Given the description of an element on the screen output the (x, y) to click on. 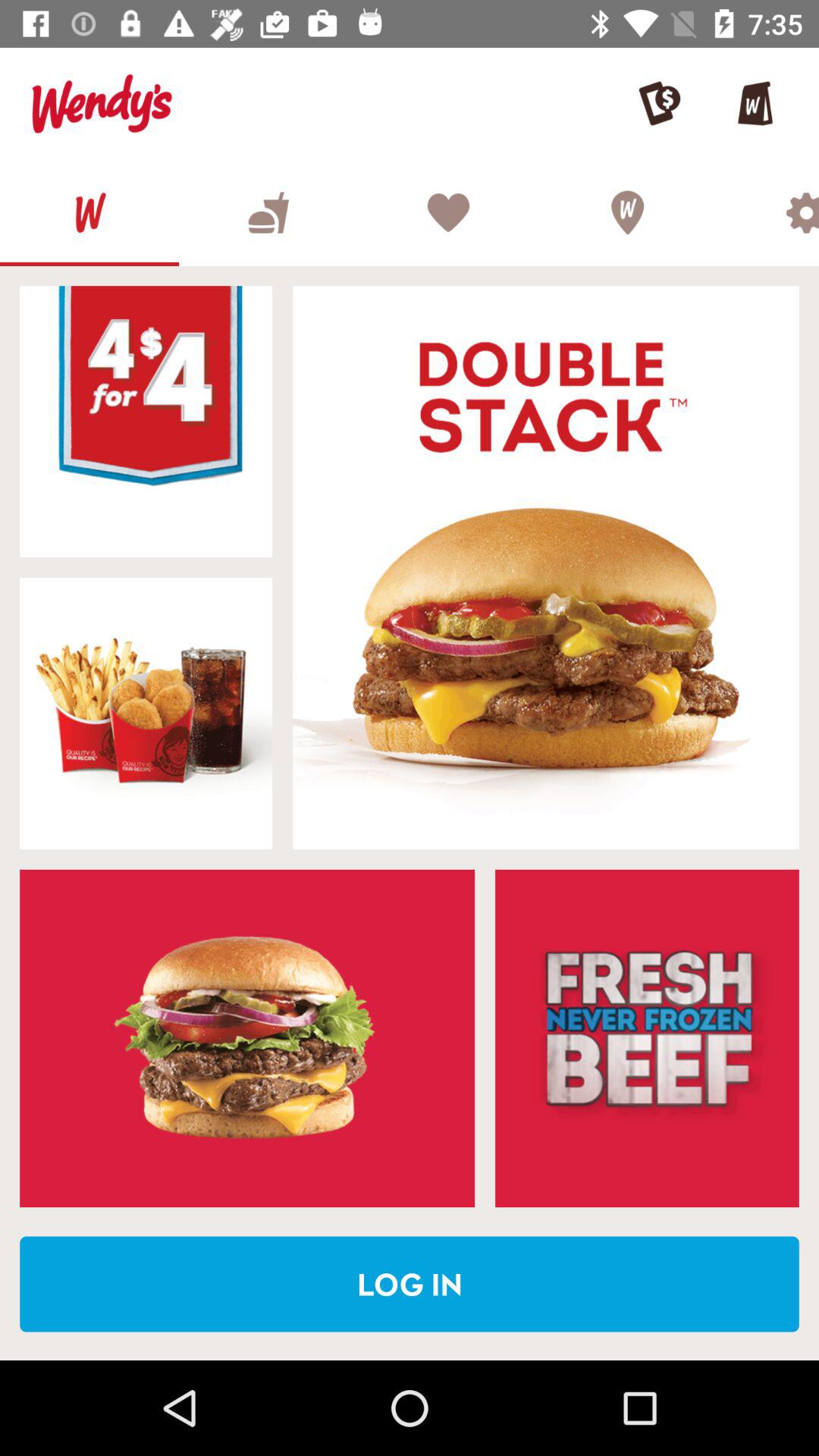
view favorites (447, 212)
